Given the description of an element on the screen output the (x, y) to click on. 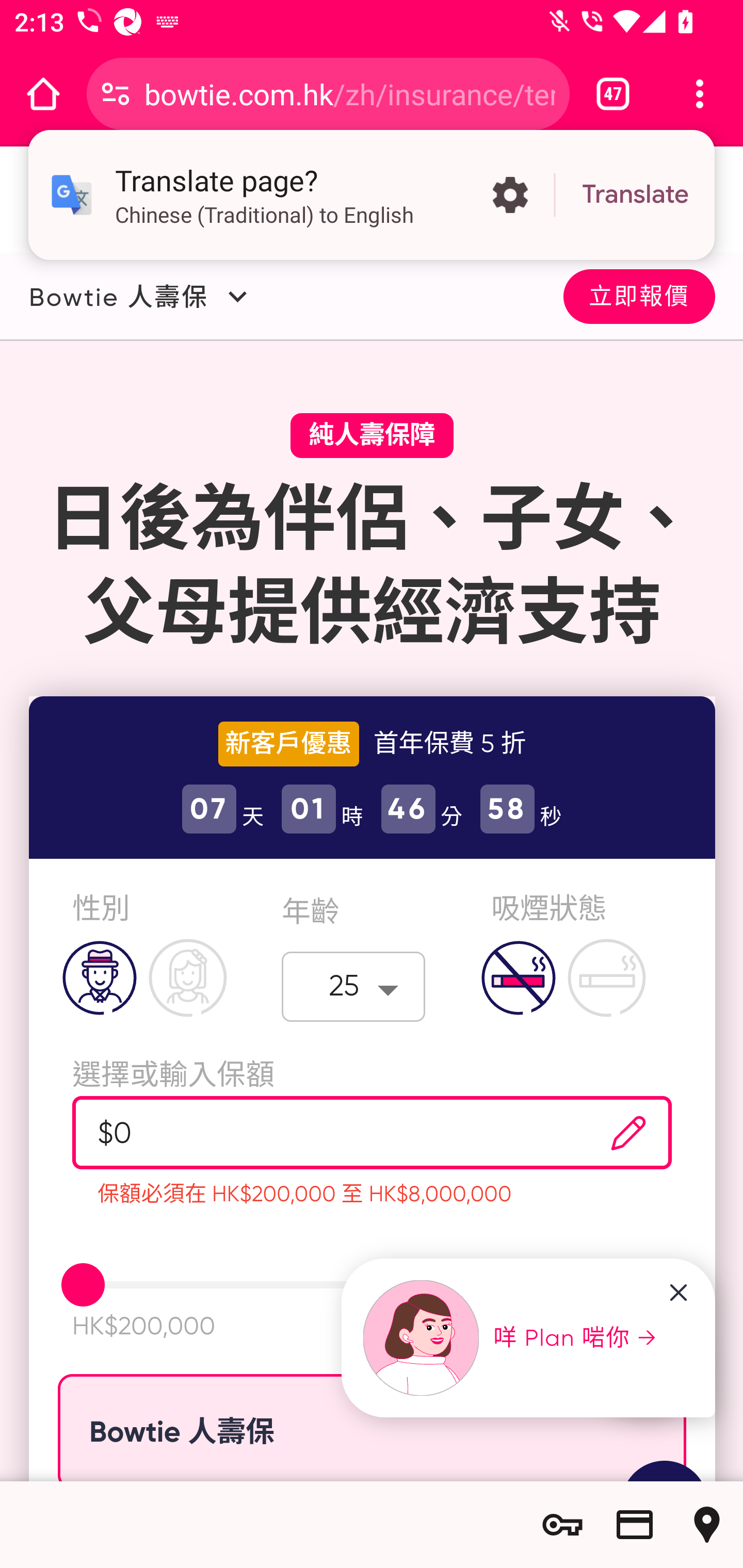
Open the home page (43, 93)
Connection is secure (115, 93)
Switch or close tabs (612, 93)
Customize and control Google Chrome (699, 93)
Translate (634, 195)
More options in the Translate page? (509, 195)
立即報價 (638, 295)
25 (353, 986)
$0 (321, 1132)
咩 Plan 啱你 → (510, 1338)
Show saved passwords and password options (562, 1524)
Show saved payment methods (634, 1524)
Show saved addresses (706, 1524)
